Given the description of an element on the screen output the (x, y) to click on. 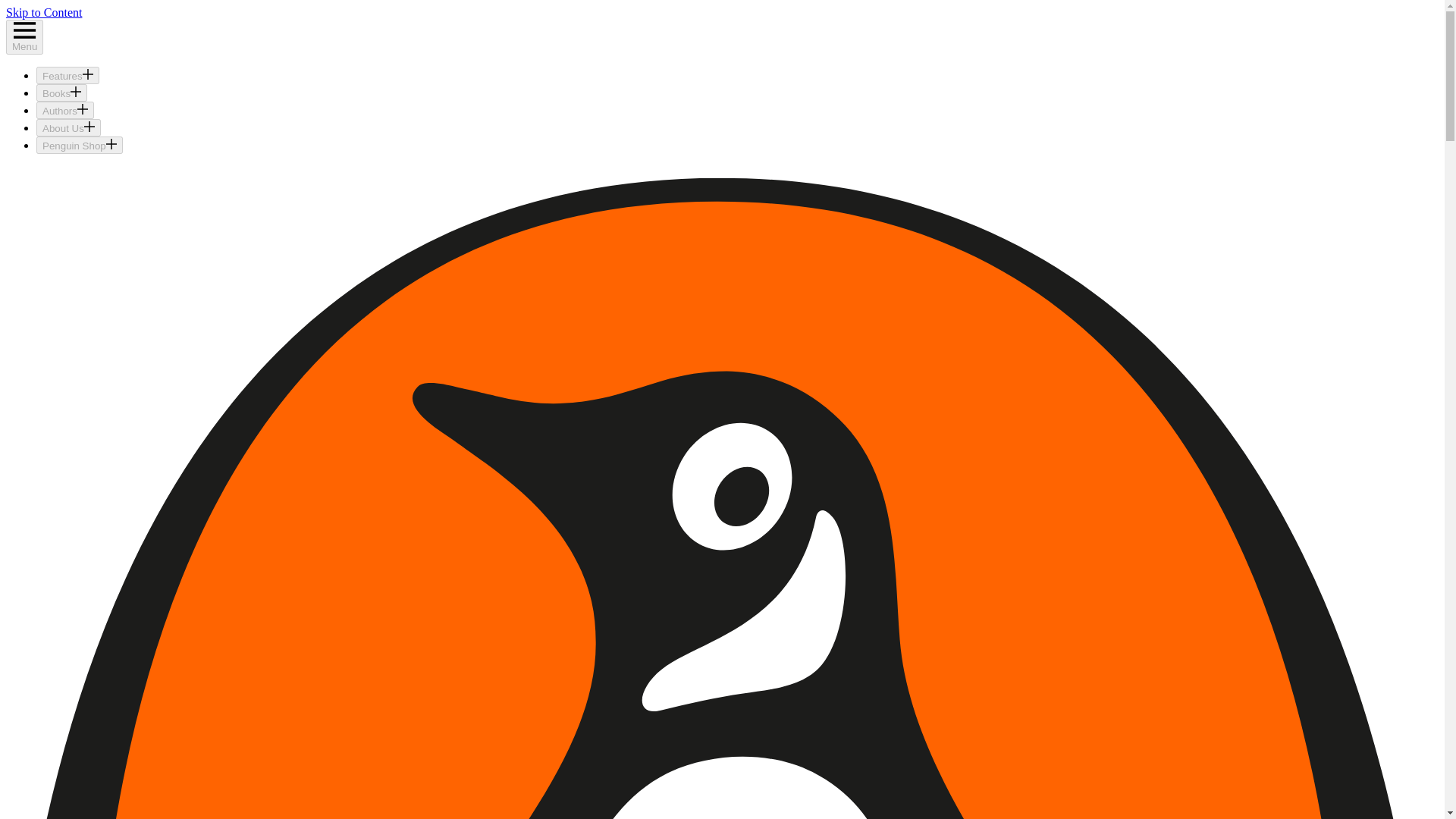
Features (67, 75)
Menu (24, 36)
Books (61, 92)
Authors (65, 109)
Penguin Shop (79, 144)
About Us (68, 127)
Skip to Content (43, 11)
